Given the description of an element on the screen output the (x, y) to click on. 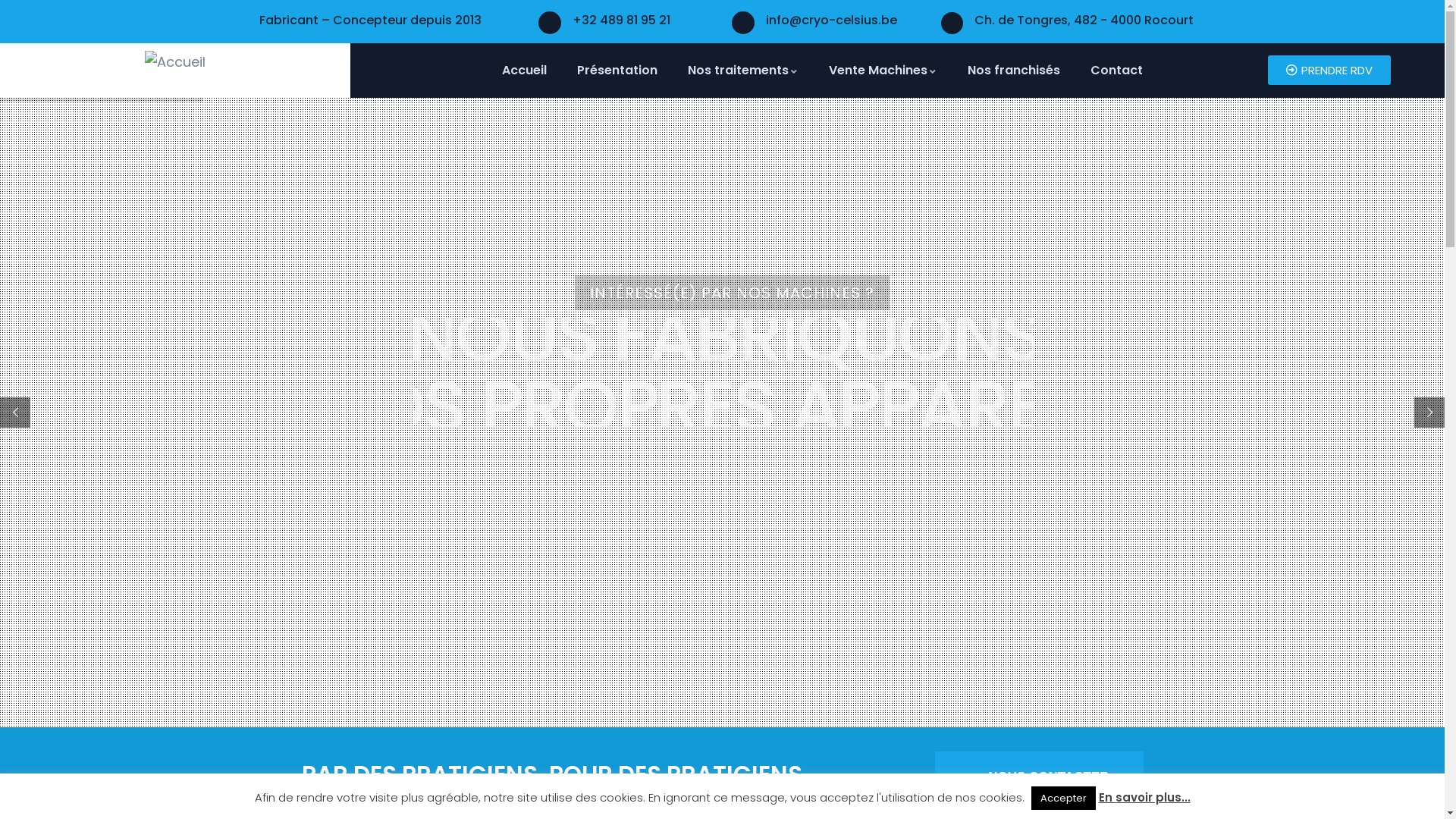
Contact Element type: text (1116, 70)
Vente Machines Element type: text (882, 70)
Accueil Element type: text (523, 70)
Nos traitements Element type: text (742, 70)
NOUS CONTACTER Element type: text (1038, 777)
PRENDRE RDV Element type: text (1328, 69)
Accueil Element type: hover (174, 61)
Accepter Element type: text (1063, 797)
info@cryo-celsius.be Element type: text (831, 19)
+32 489 81 95 21 Element type: text (621, 19)
En savoir plus... Element type: text (1143, 796)
